Given the description of an element on the screen output the (x, y) to click on. 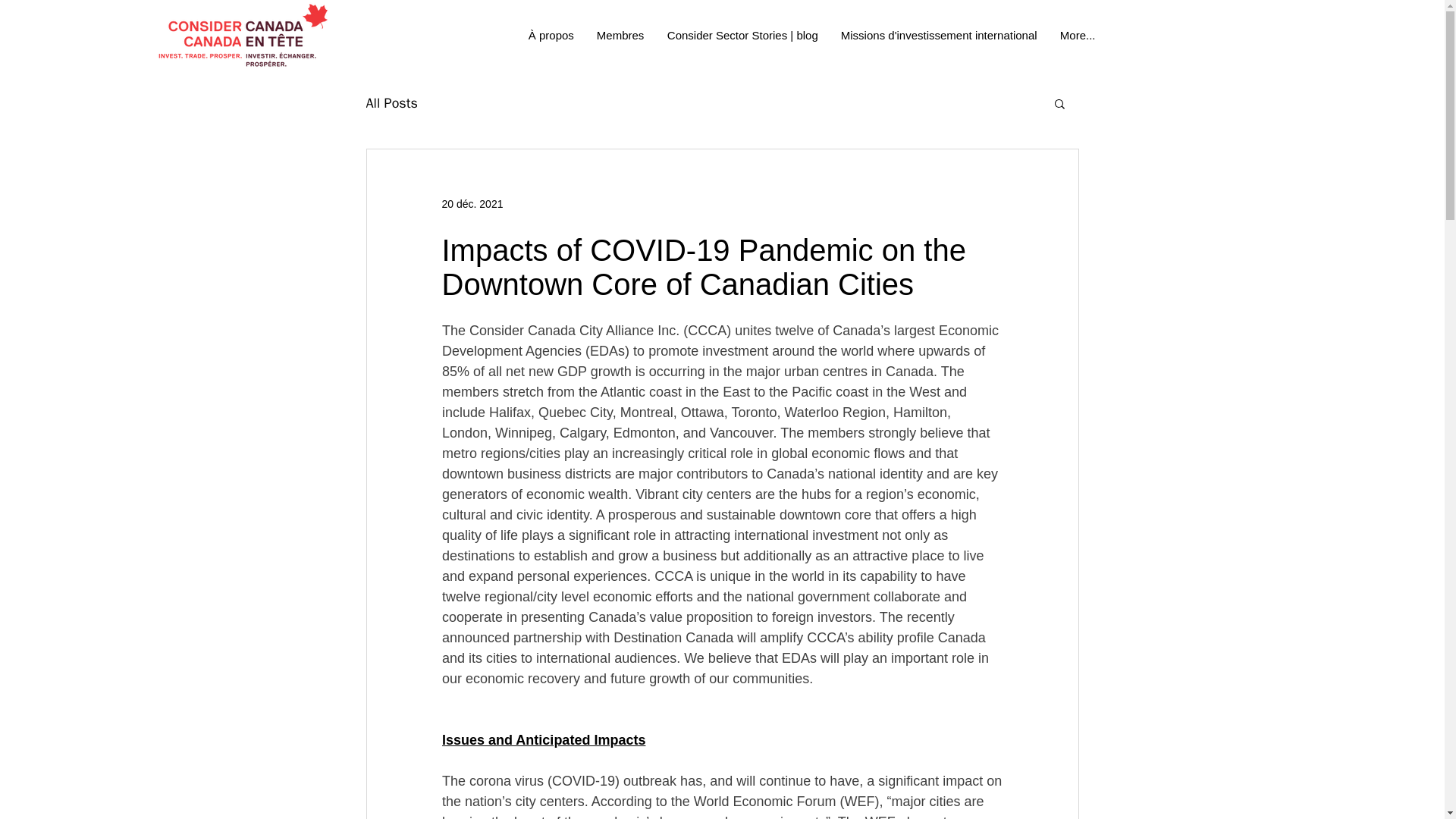
Missions d'investissement international (938, 35)
All Posts (390, 103)
Membres (620, 35)
